Given the description of an element on the screen output the (x, y) to click on. 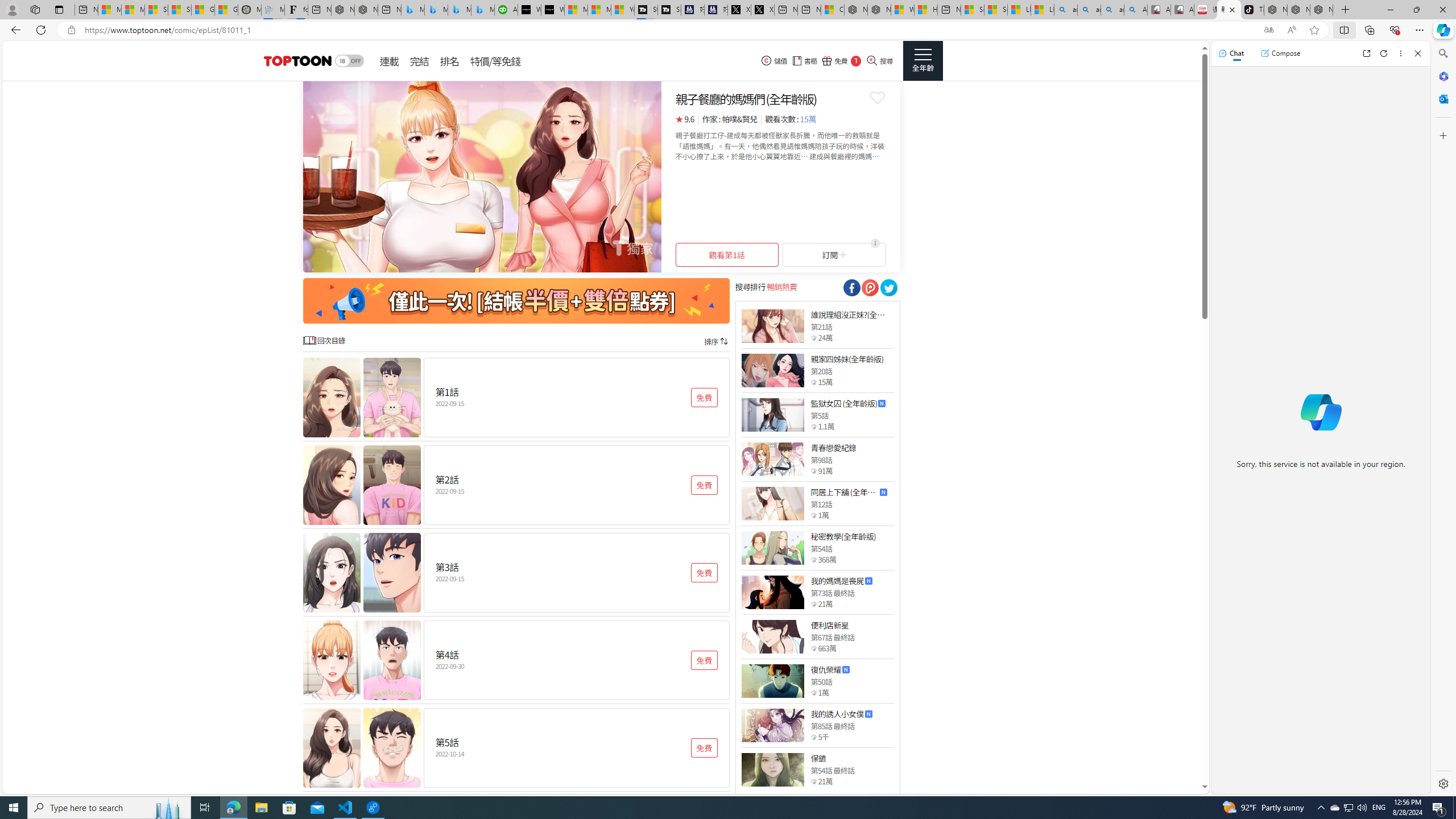
Nordace - Siena Pro 15 Essential Set (1321, 9)
Settings (1442, 783)
